Given the description of an element on the screen output the (x, y) to click on. 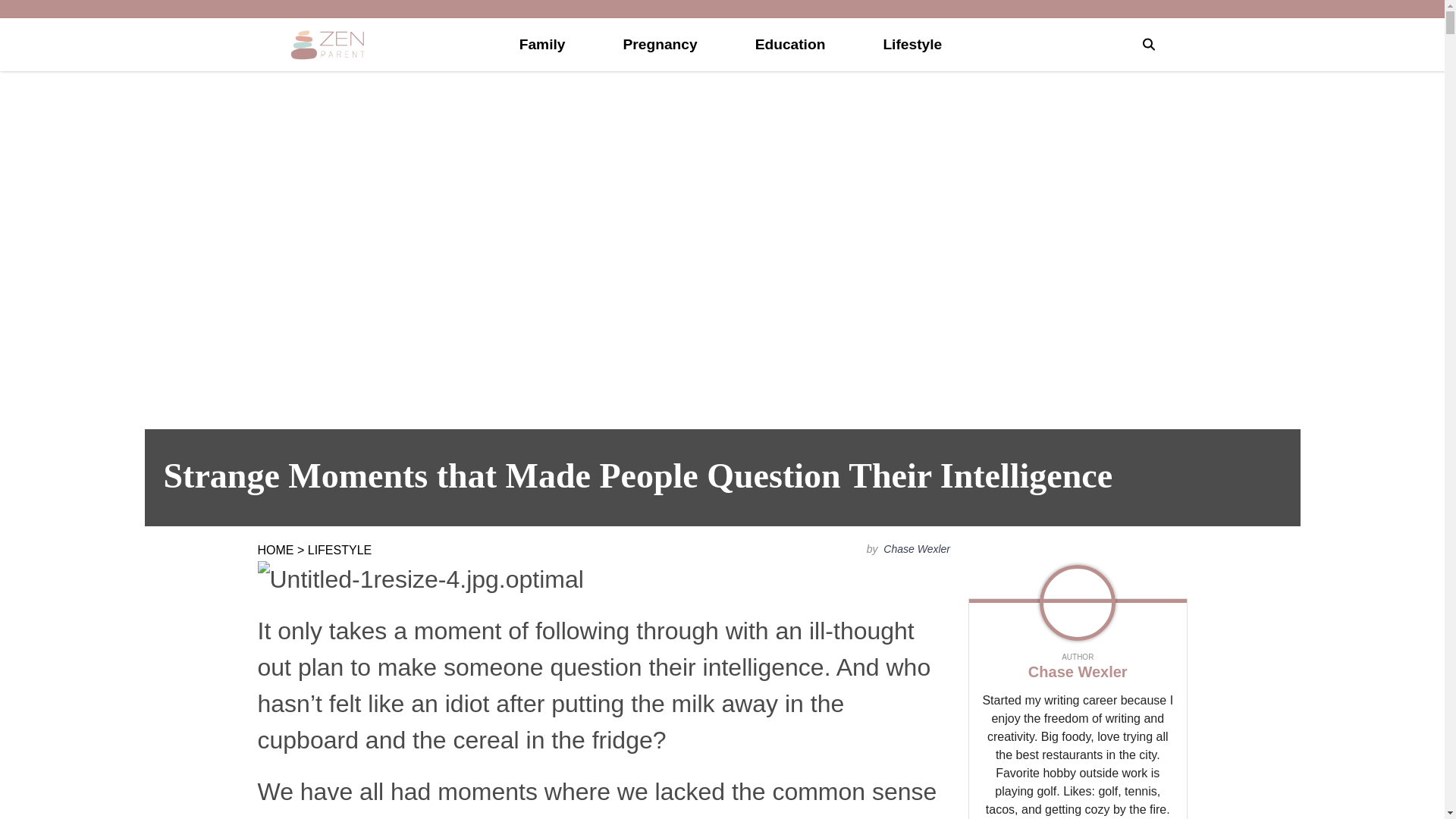
LIFESTYLE (339, 549)
HOME (275, 549)
Chase Wexler (915, 548)
Strange Moments that Made People Question Their Intelligence (722, 477)
